Given the description of an element on the screen output the (x, y) to click on. 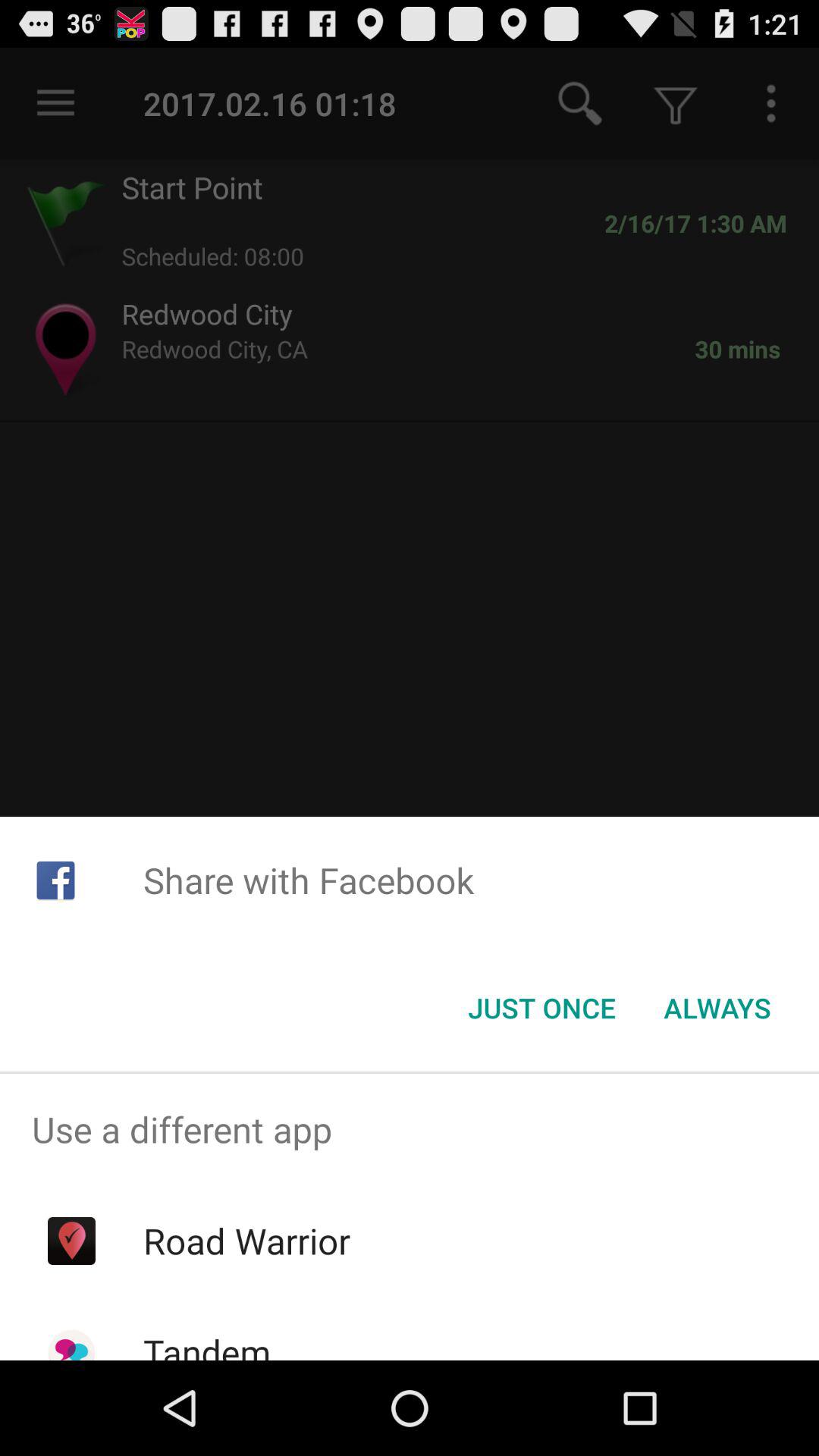
tap icon above tandem app (246, 1240)
